Given the description of an element on the screen output the (x, y) to click on. 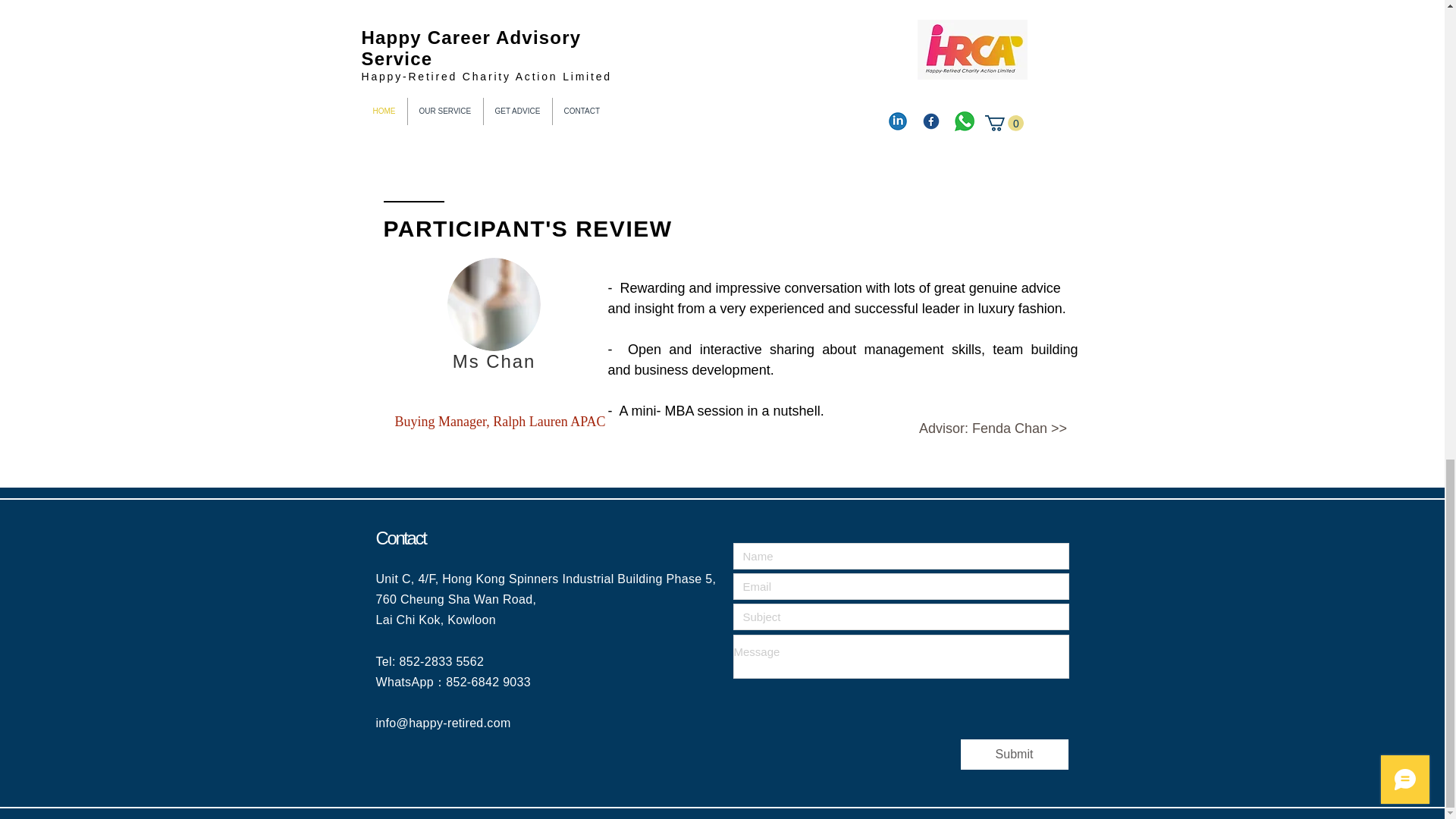
Advisor Team page (736, 77)
Submit (1013, 754)
